Given the description of an element on the screen output the (x, y) to click on. 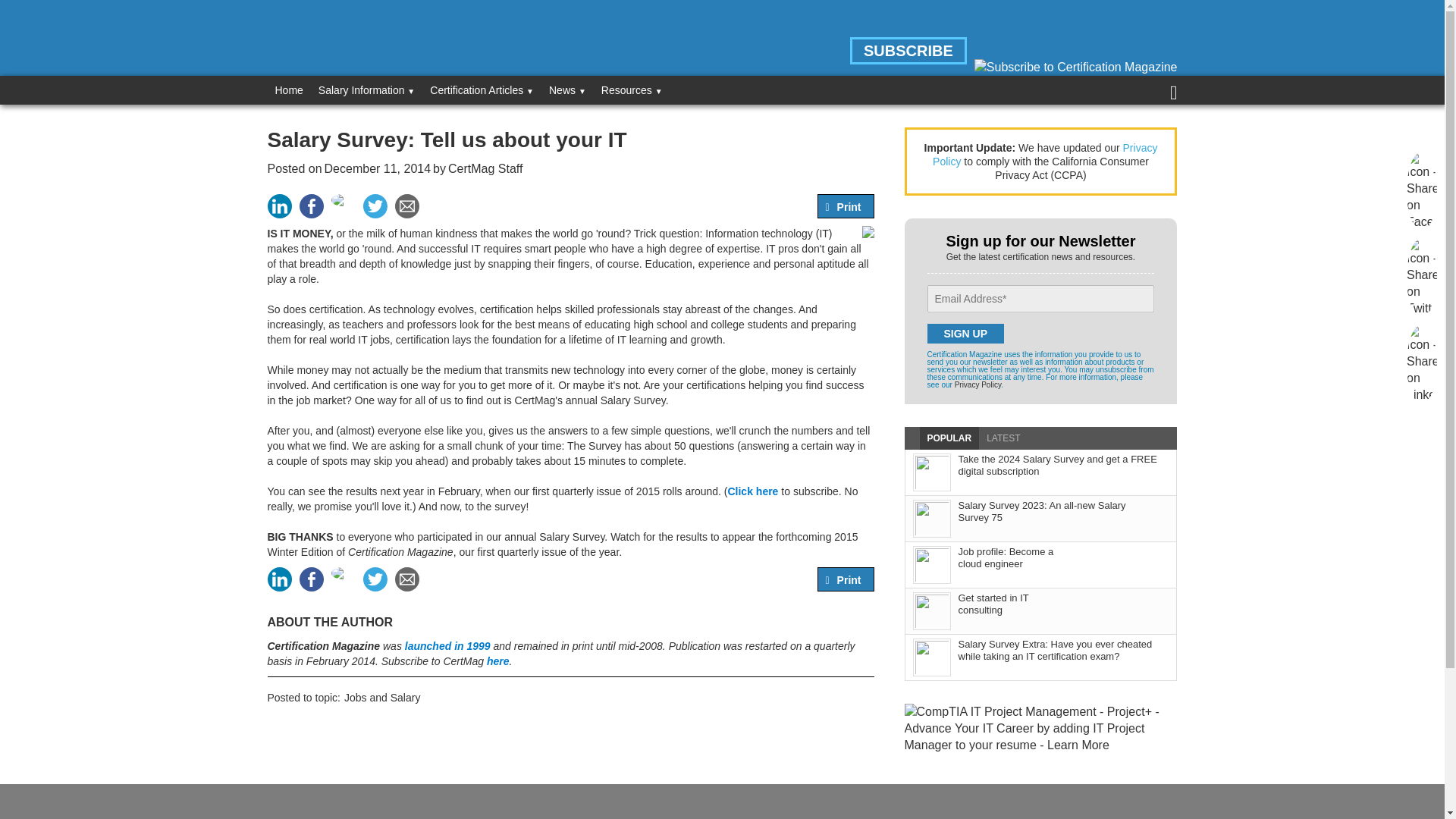
Home (288, 90)
Sign Up (965, 333)
Search (37, 14)
SUBSCRIBE (908, 50)
Print (849, 580)
Print (849, 206)
